Given the description of an element on the screen output the (x, y) to click on. 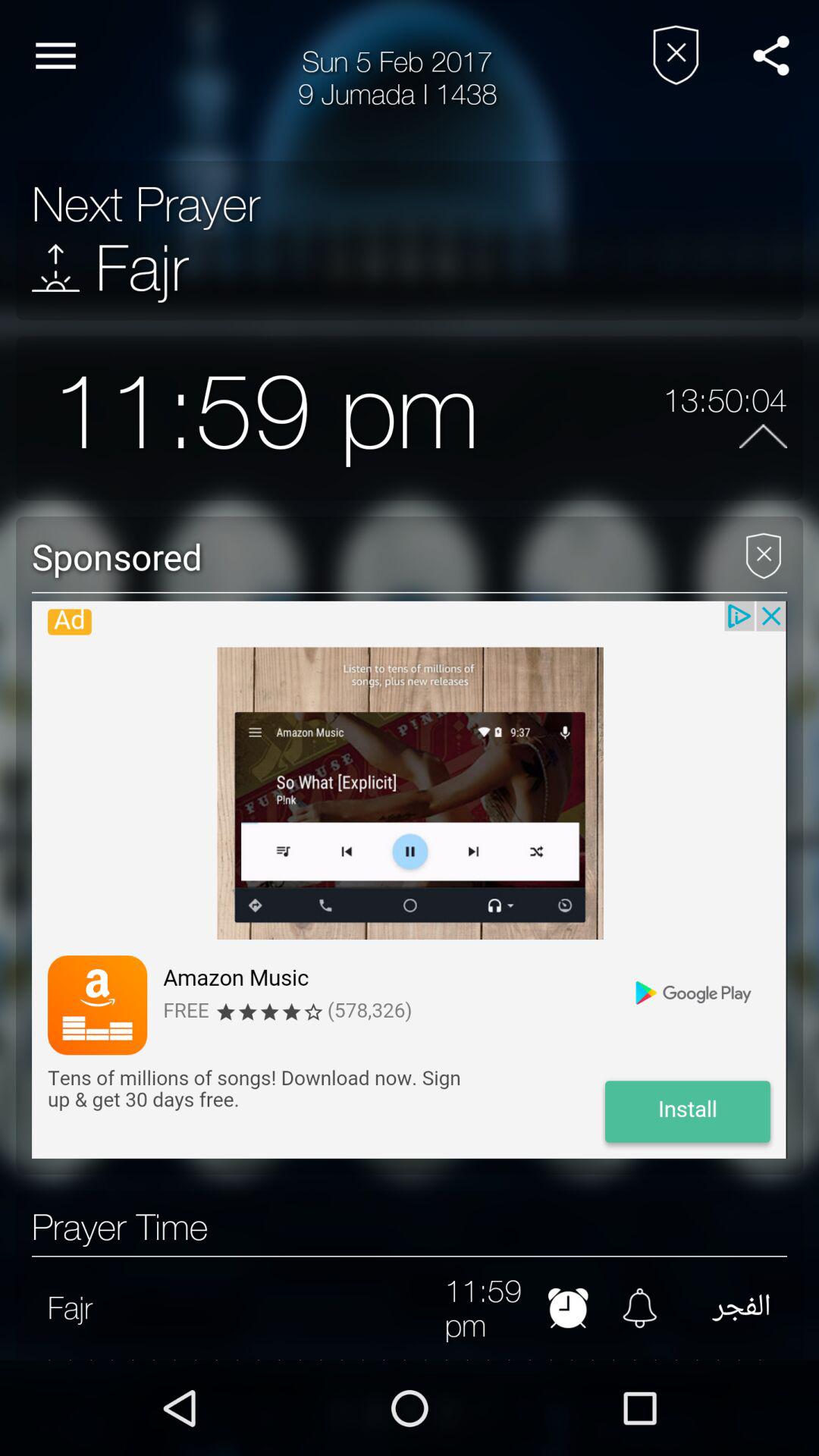
press item above 13:50:04 icon (771, 55)
